Given the description of an element on the screen output the (x, y) to click on. 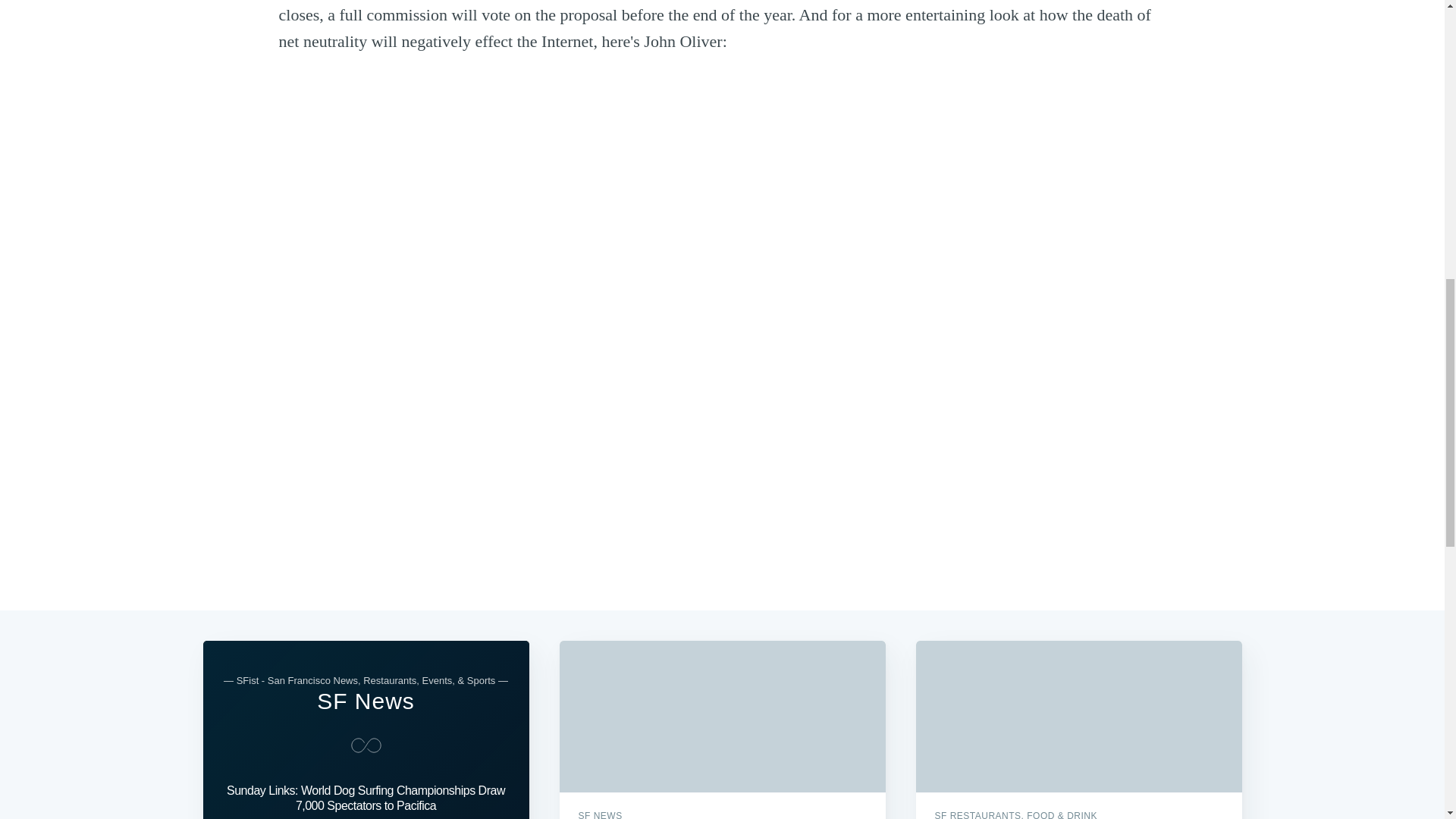
SF News (365, 700)
